Given the description of an element on the screen output the (x, y) to click on. 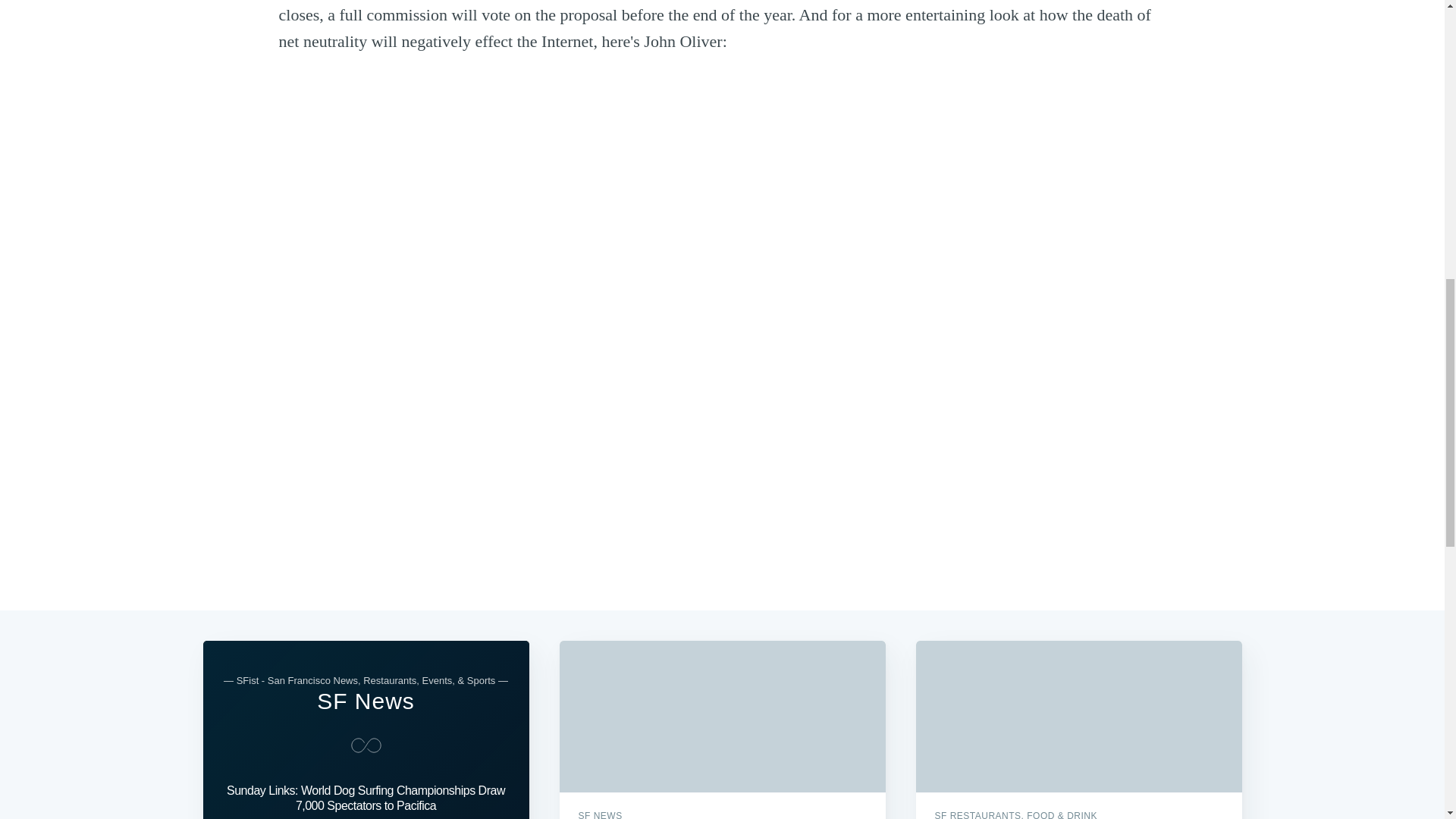
SF News (365, 700)
